Given the description of an element on the screen output the (x, y) to click on. 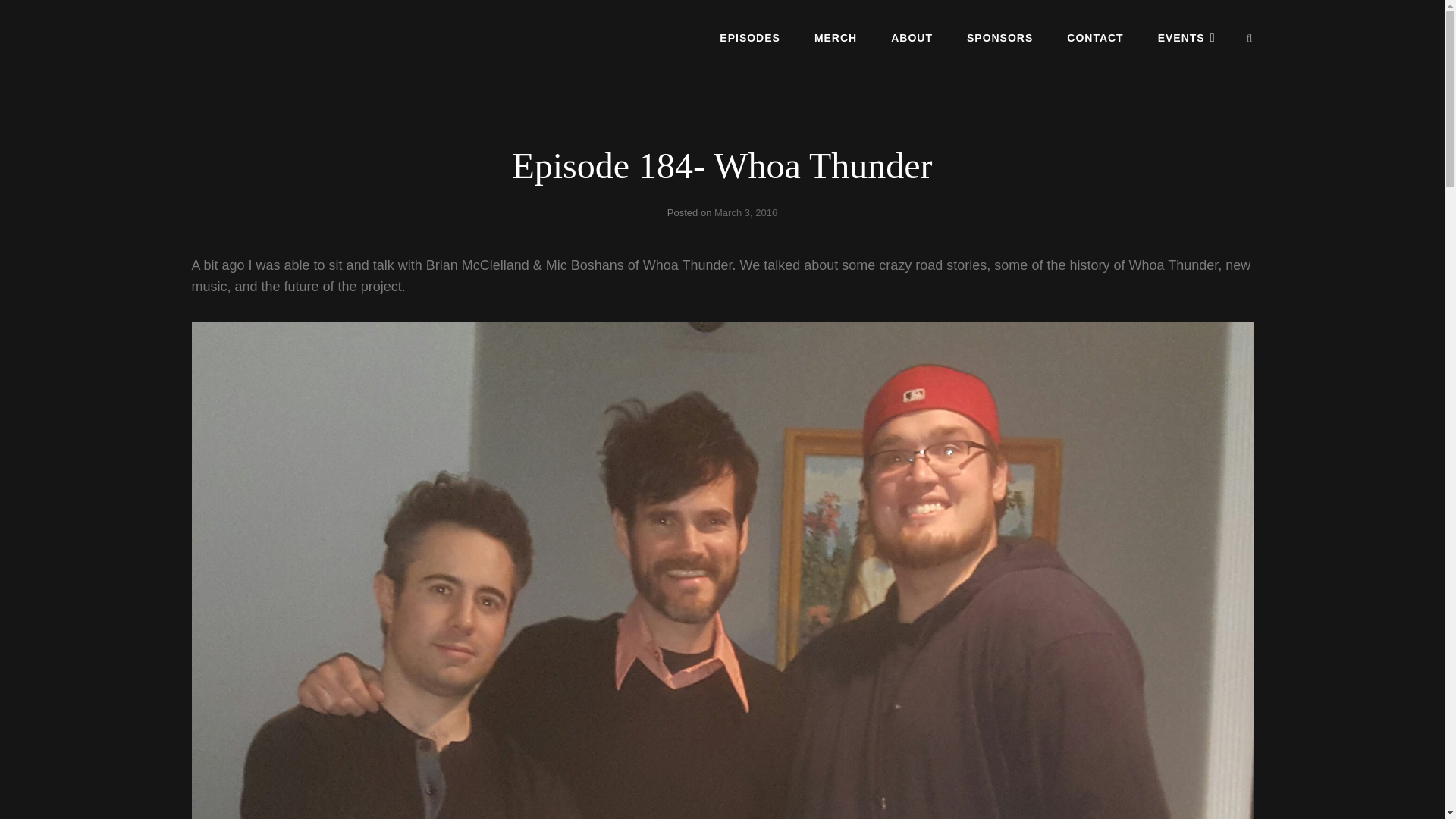
March 3, 2016 (745, 212)
MERCH (835, 37)
EPISODES (749, 37)
CONTACT (1094, 37)
ROCK PAPER PODCAST (304, 50)
SEARCH (1249, 37)
SPONSORS (1000, 37)
ABOUT (911, 37)
EVENTS (1186, 37)
